Given the description of an element on the screen output the (x, y) to click on. 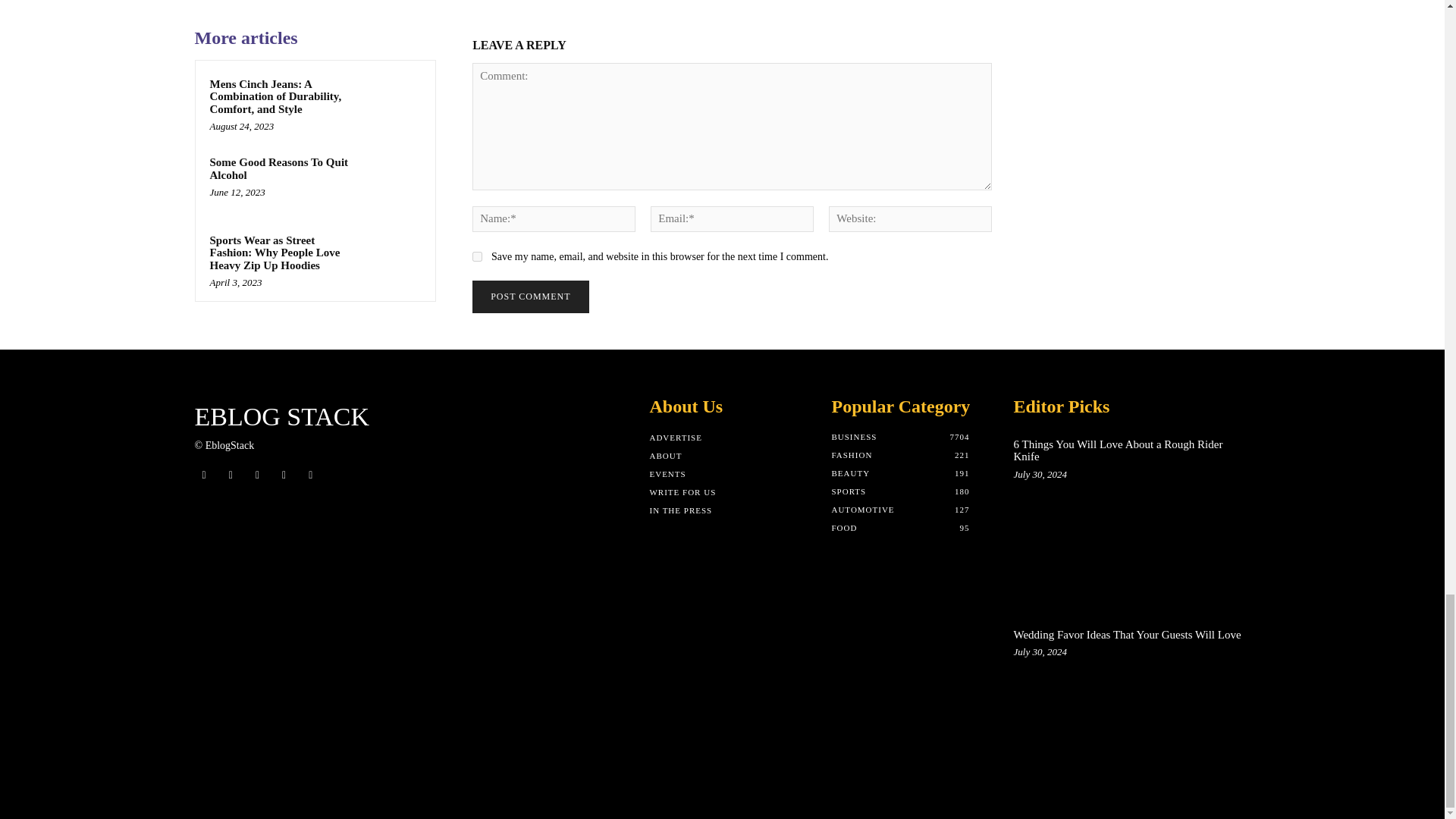
yes (476, 256)
Post Comment (529, 296)
